Given the description of an element on the screen output the (x, y) to click on. 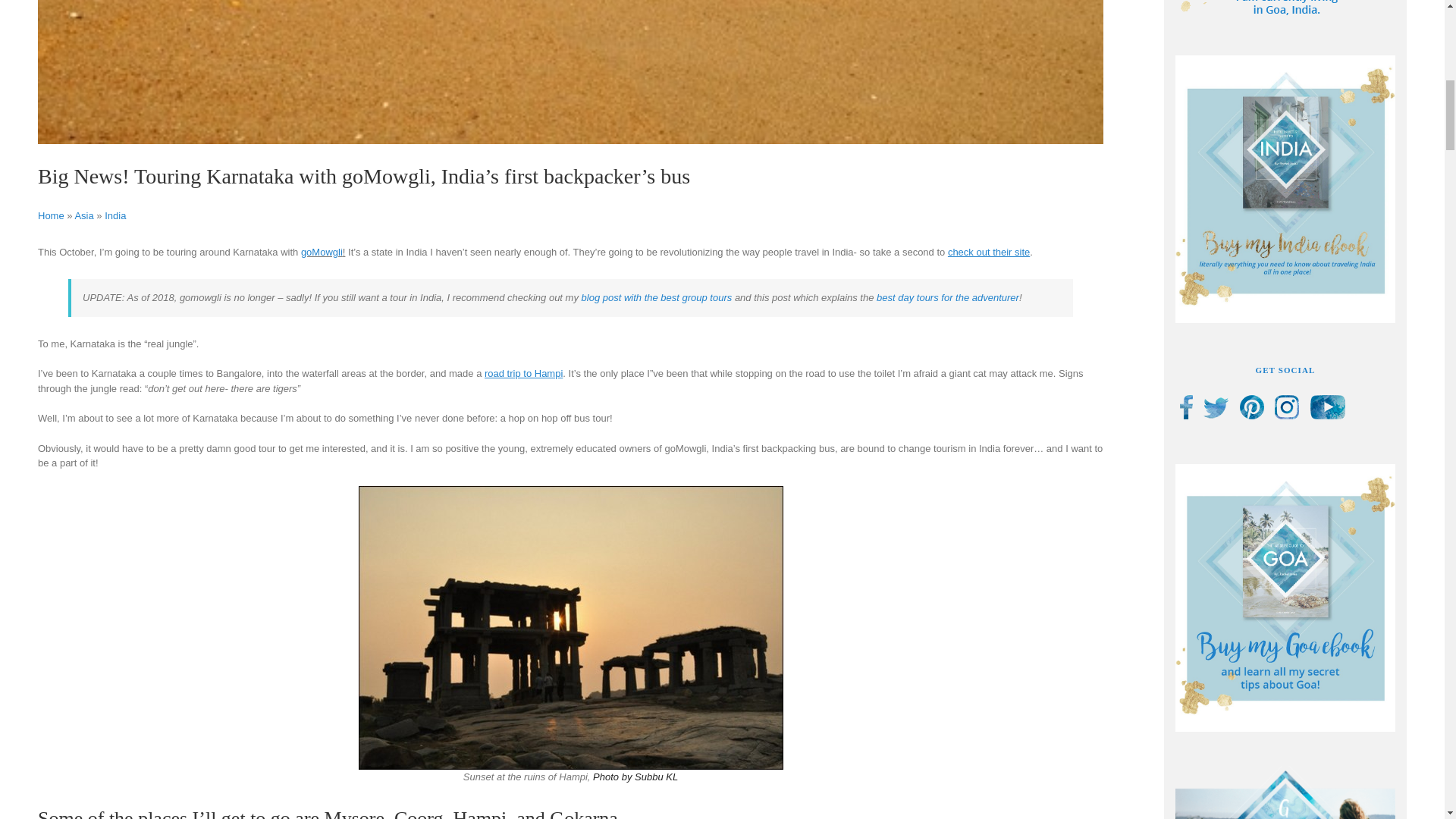
goMowgli (321, 251)
HAMPI: a mix of Jurassic Park and the Flintstones (523, 373)
